Given the description of an element on the screen output the (x, y) to click on. 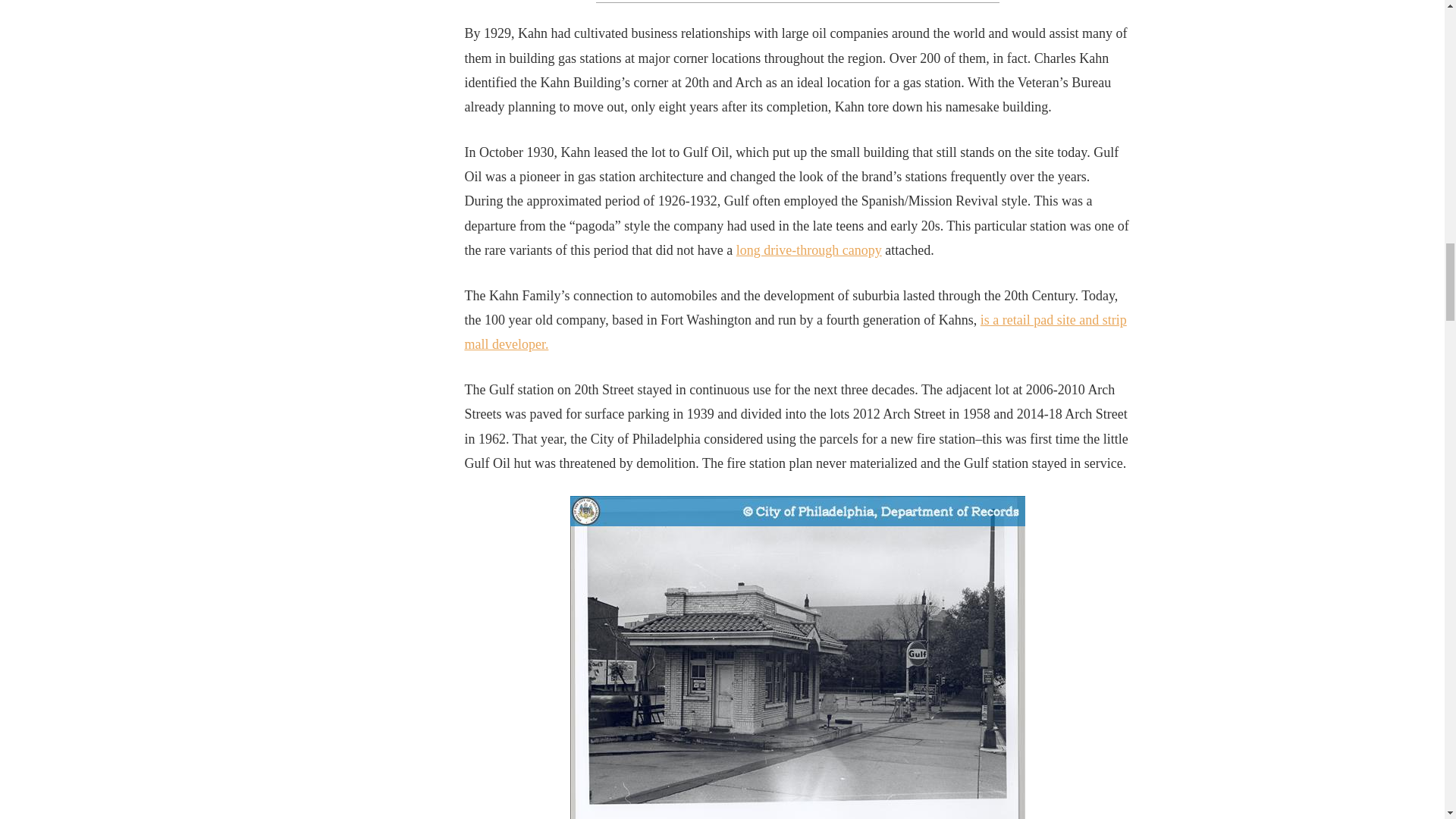
is a retail pad site and strip mall developer. (794, 332)
long drive-through canopy (809, 249)
